Given the description of an element on the screen output the (x, y) to click on. 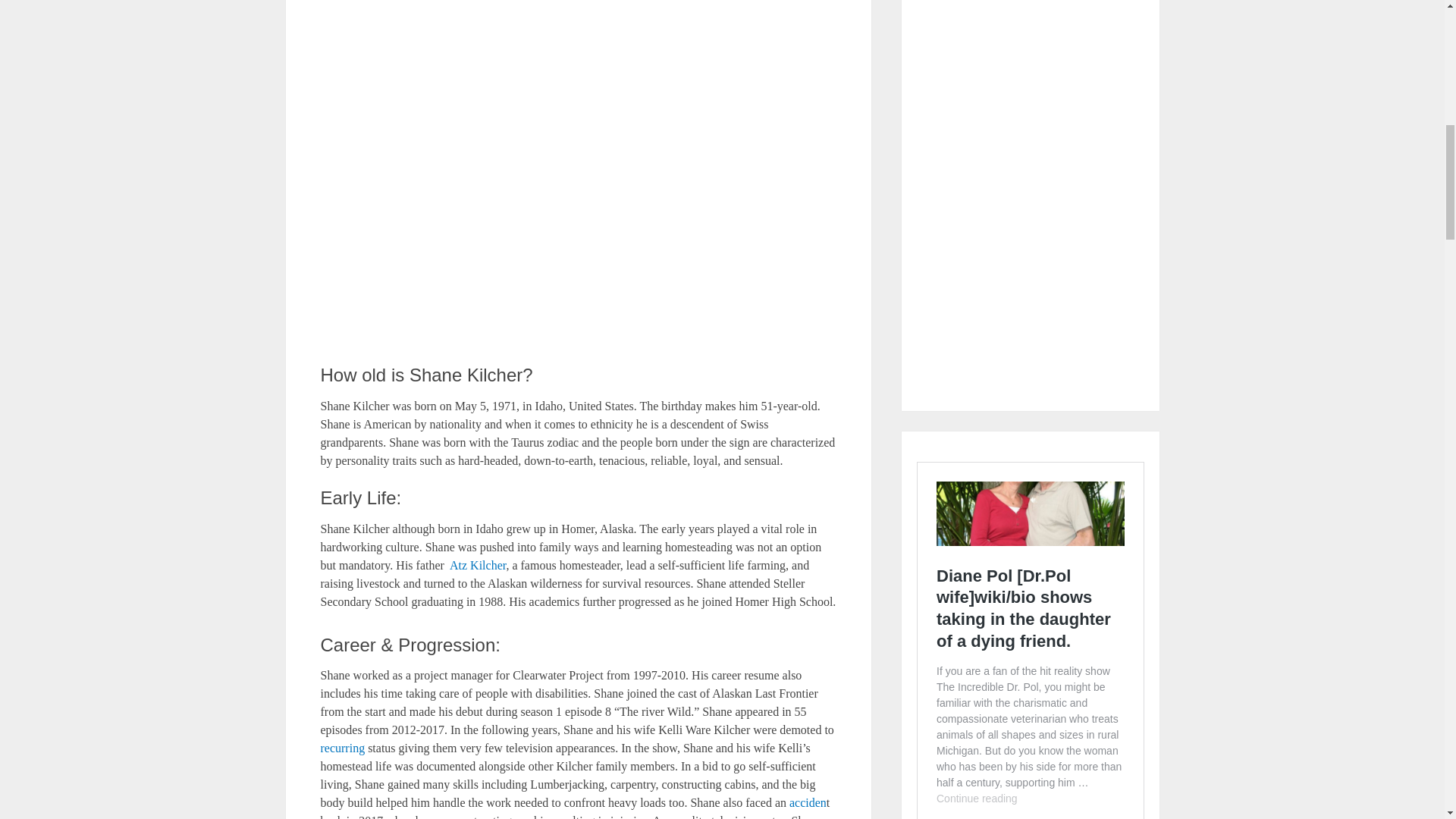
Atz Kilcher (477, 564)
recurring (342, 748)
acciden (808, 802)
